Given the description of an element on the screen output the (x, y) to click on. 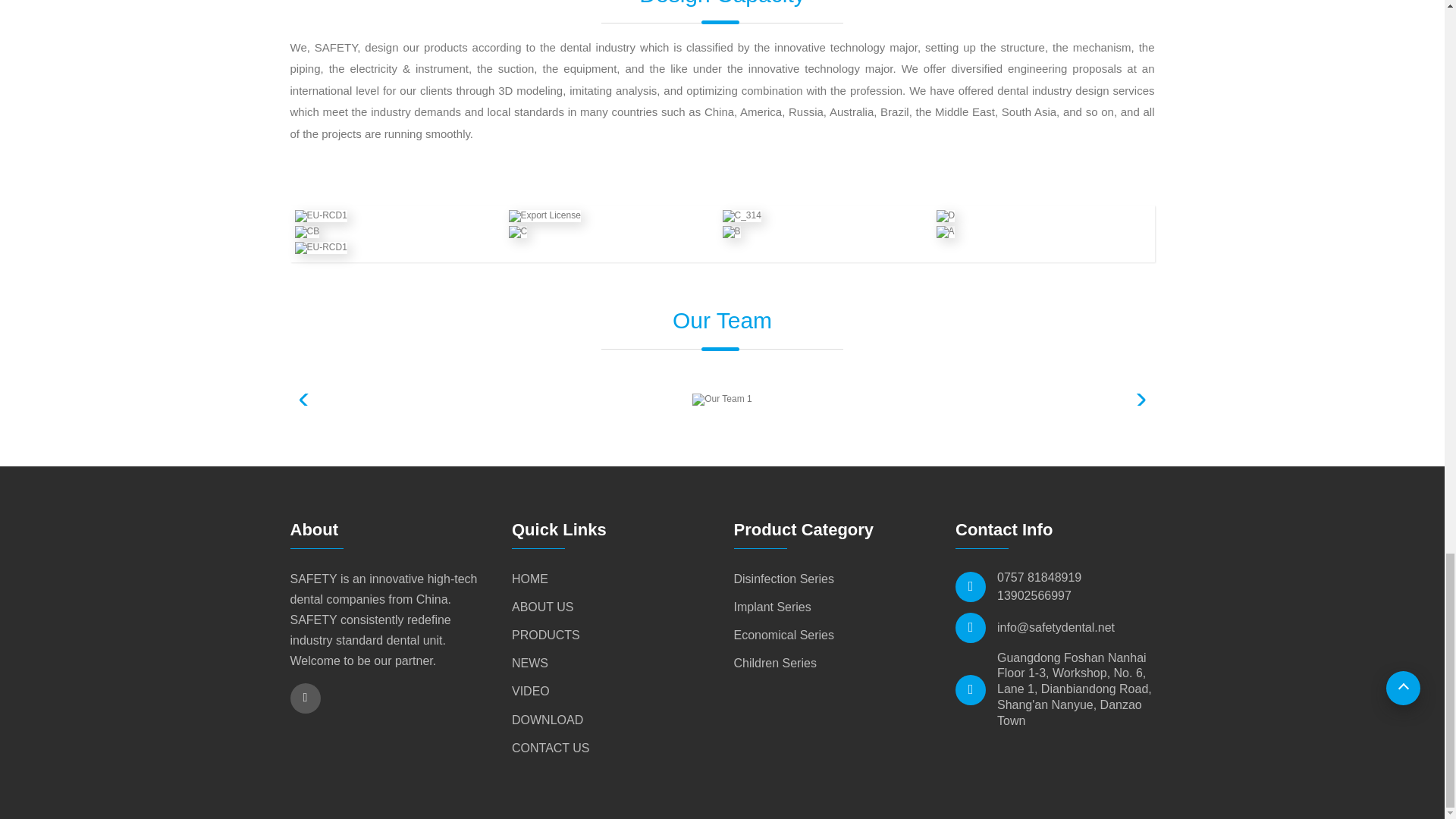
ABOUT US (542, 606)
VIDEO (531, 690)
VIDEO (531, 690)
ABOUT US (542, 606)
NEWS (530, 662)
PRODUCTS (545, 634)
CONTACT US (550, 748)
HOME (530, 578)
Implant Series (771, 606)
NEWS (530, 662)
